Given the description of an element on the screen output the (x, y) to click on. 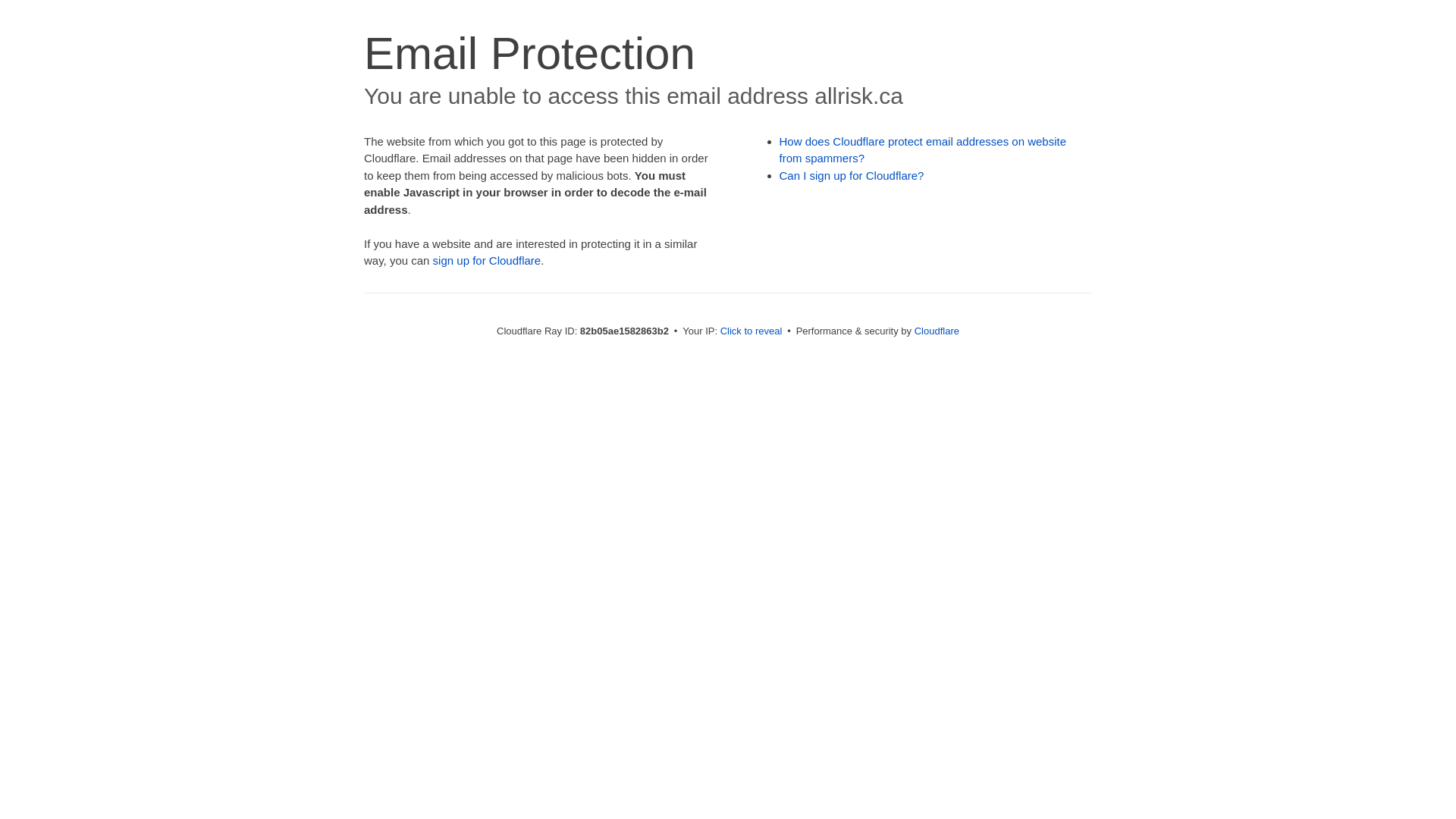
sign up for Cloudflare Element type: text (487, 260)
Can I sign up for Cloudflare? Element type: text (851, 175)
Click to reveal Element type: text (751, 330)
Cloudflare Element type: text (936, 330)
